Given the description of an element on the screen output the (x, y) to click on. 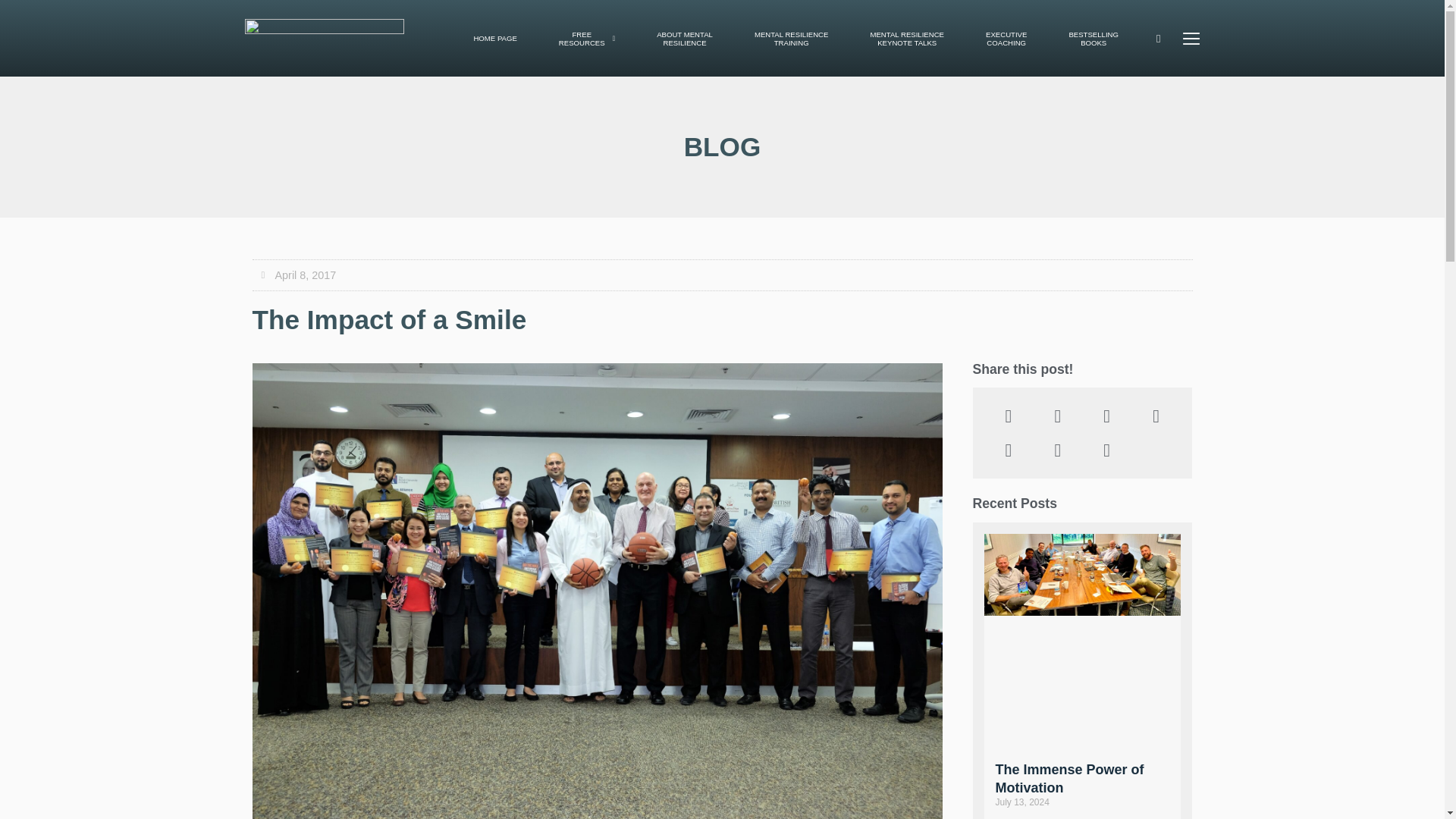
HOME PAGE (906, 38)
